Given the description of an element on the screen output the (x, y) to click on. 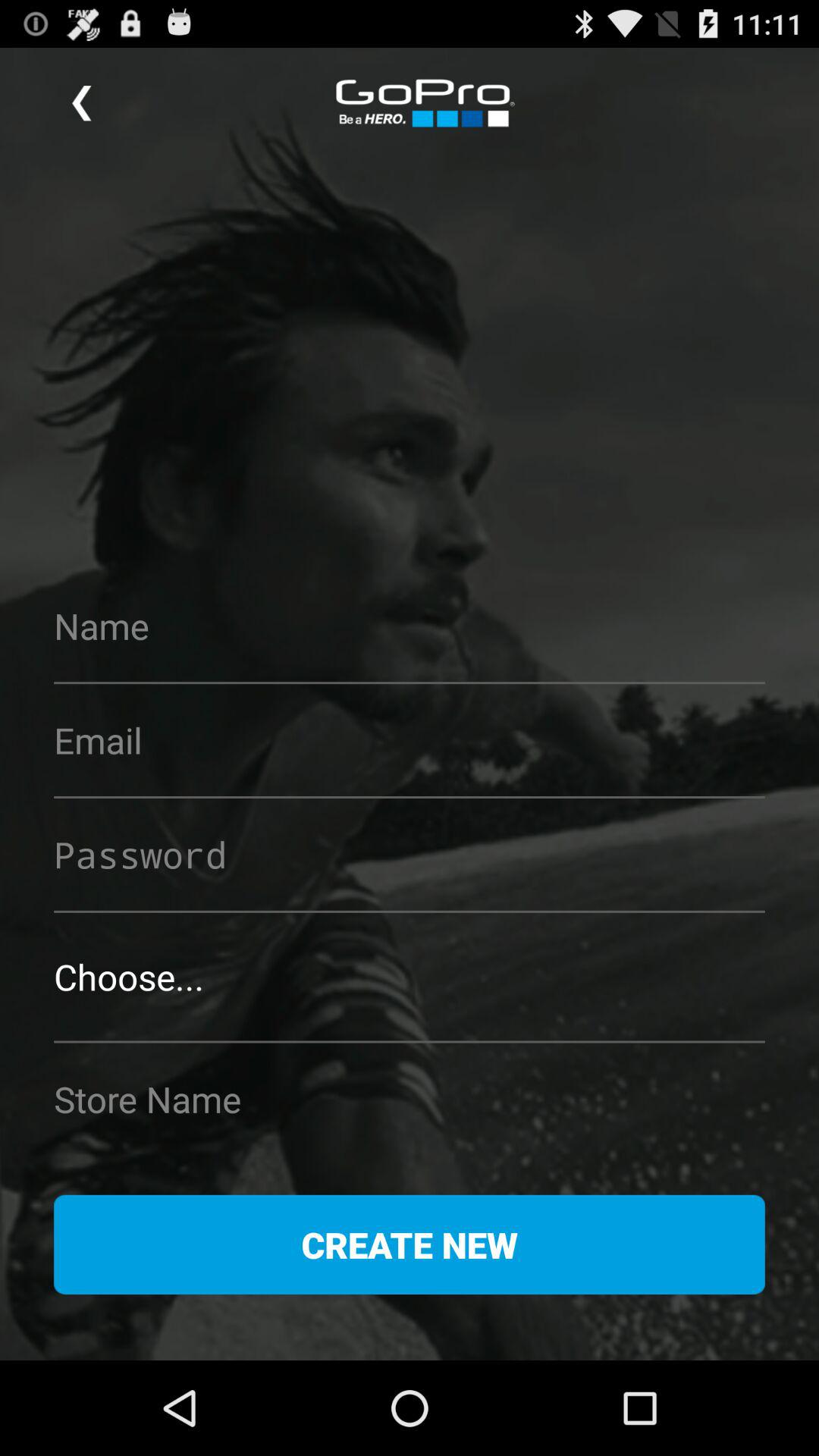
enter email address (409, 740)
